Given the description of an element on the screen output the (x, y) to click on. 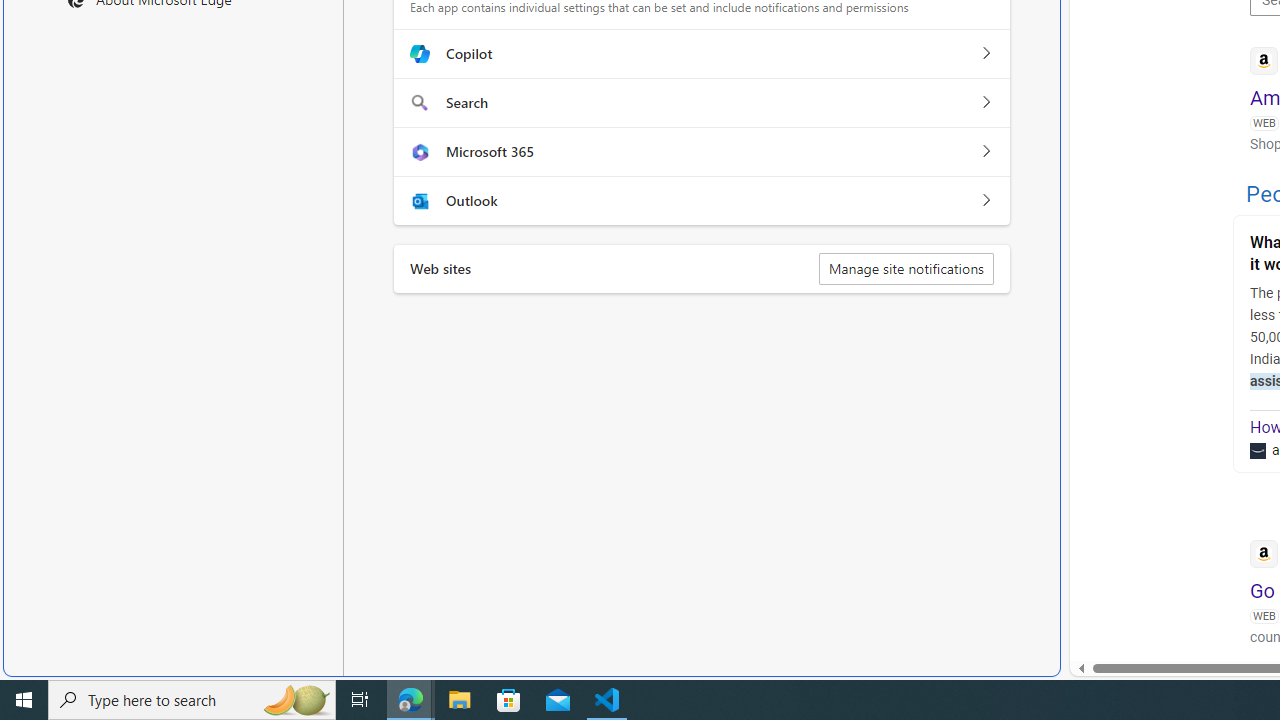
Copilot (985, 54)
Manage site notifications (905, 268)
